Given the description of an element on the screen output the (x, y) to click on. 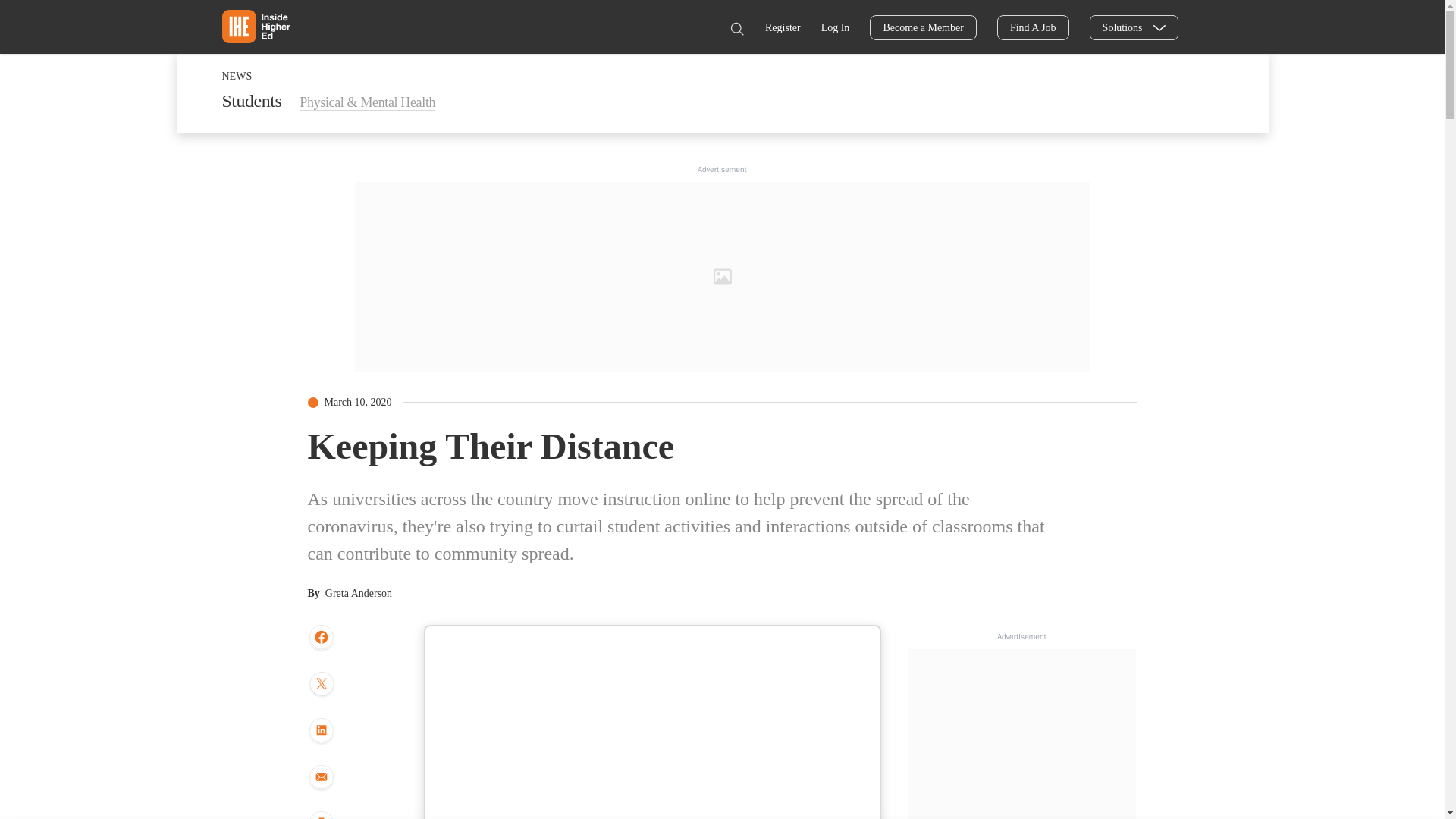
share to Linkedin (320, 731)
Find A Job (1032, 27)
share to twitter (320, 685)
Home (255, 26)
Search (736, 28)
Become a Member (922, 27)
share to facebook (320, 637)
share by email (320, 777)
